Given the description of an element on the screen output the (x, y) to click on. 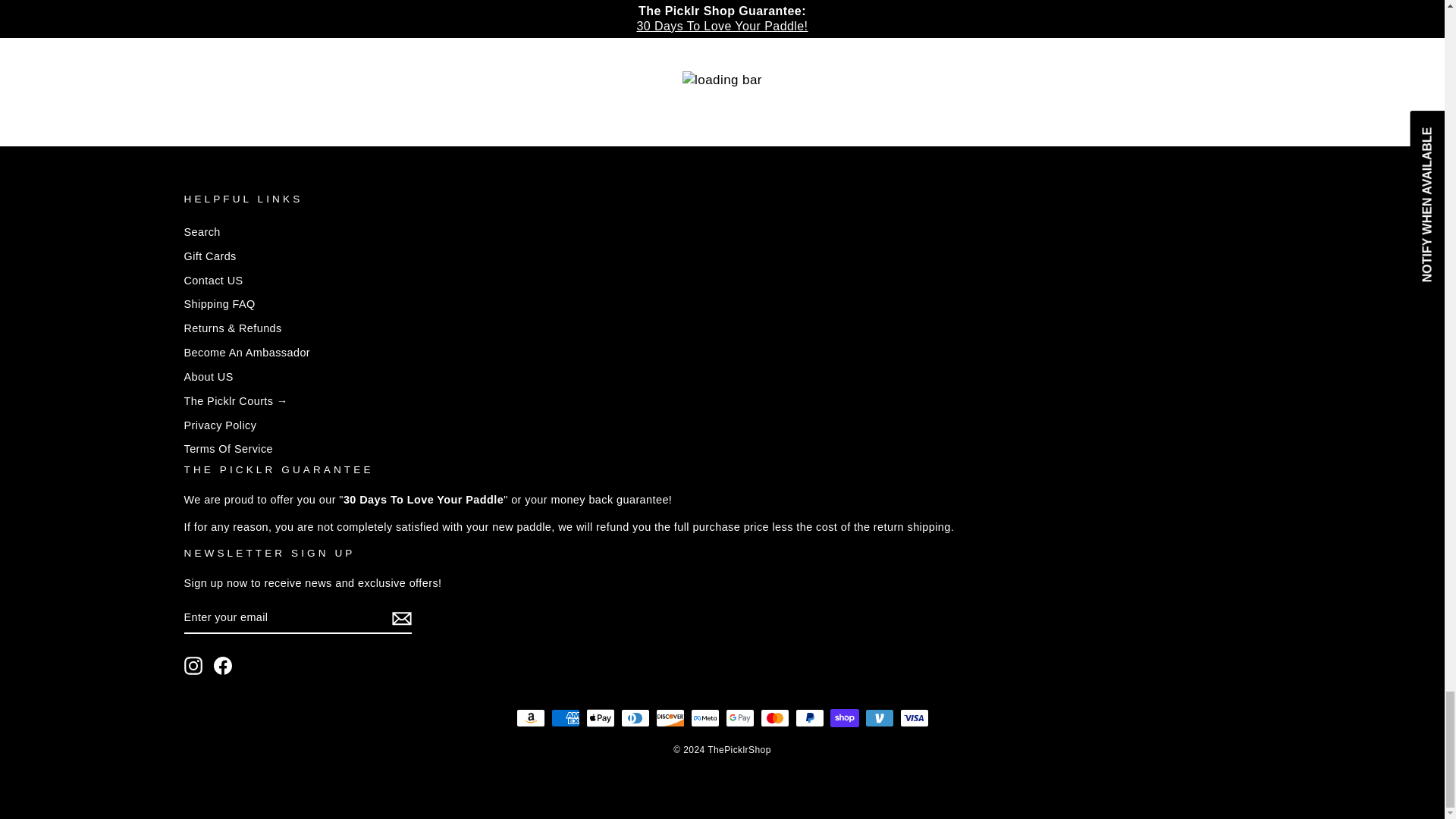
ThePicklrShop on Facebook (222, 665)
ThePicklrShop on Instagram (192, 665)
